Given the description of an element on the screen output the (x, y) to click on. 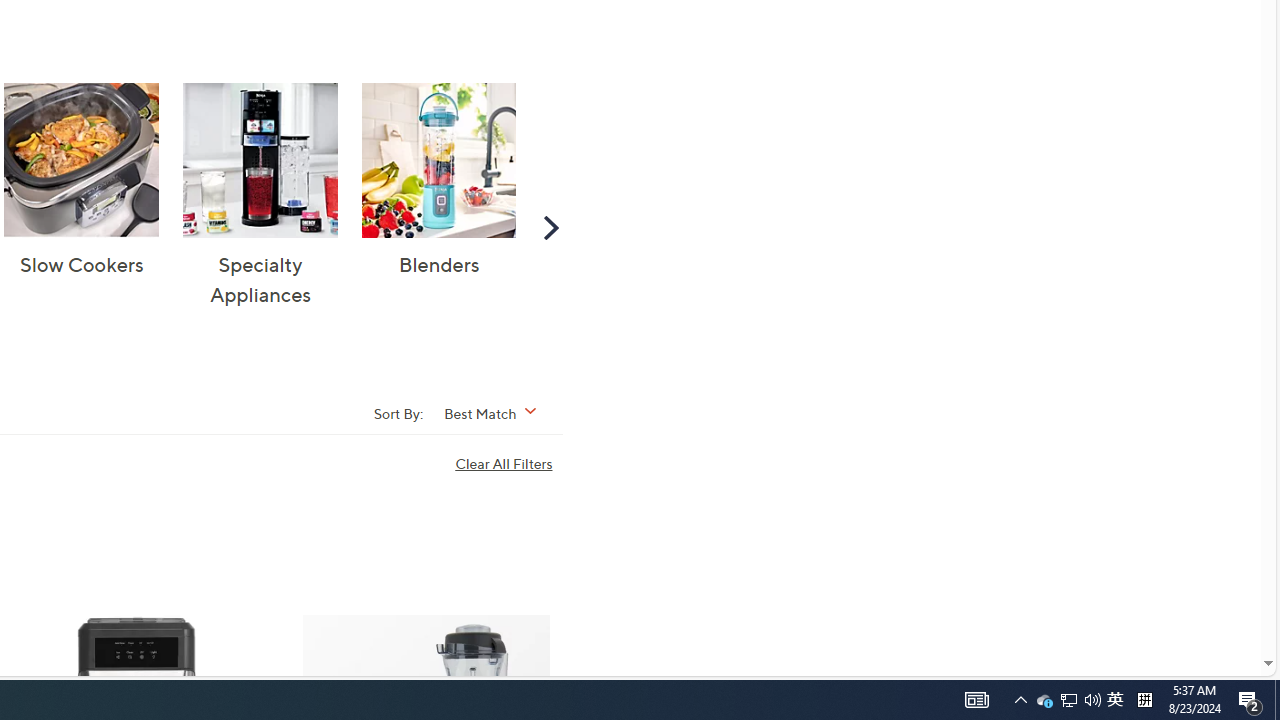
Sort By Best Match (496, 412)
Slow Cookers Slow Cookers (81, 181)
Blenders Blenders (438, 181)
Slow Cookers (81, 160)
Specialty Appliances (260, 160)
Blenders (438, 160)
Clear All Filters (508, 463)
Scroll Right (550, 225)
Specialty Appliances Specialty Appliances (260, 196)
